Given the description of an element on the screen output the (x, y) to click on. 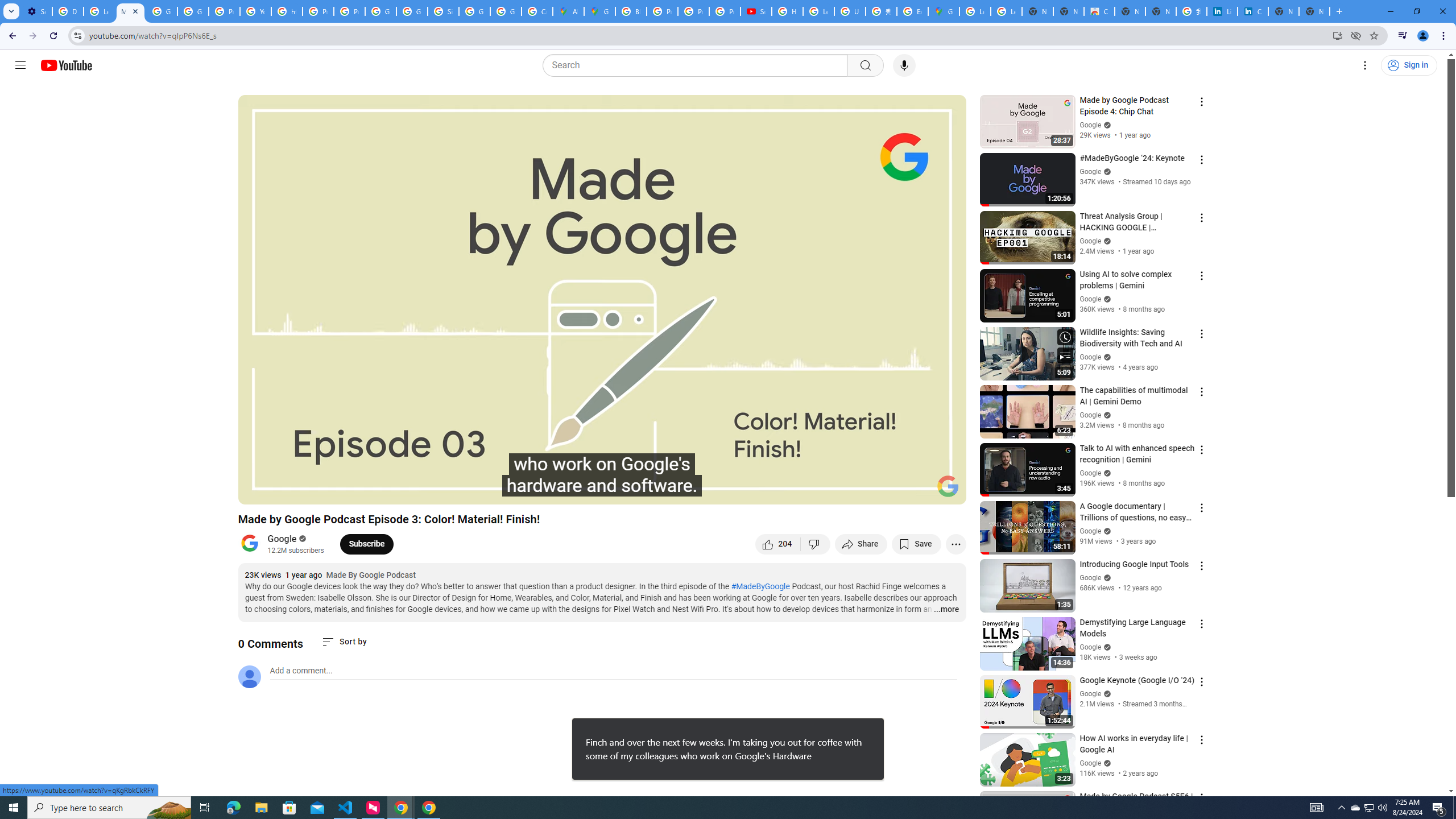
Autoplay is on (808, 490)
Learn how to find your photos - Google Photos Help (98, 11)
Verified (1106, 762)
Google Account Help (161, 11)
Sort comments (343, 641)
YouTube (255, 11)
Full screen (f) (945, 490)
